Given the description of an element on the screen output the (x, y) to click on. 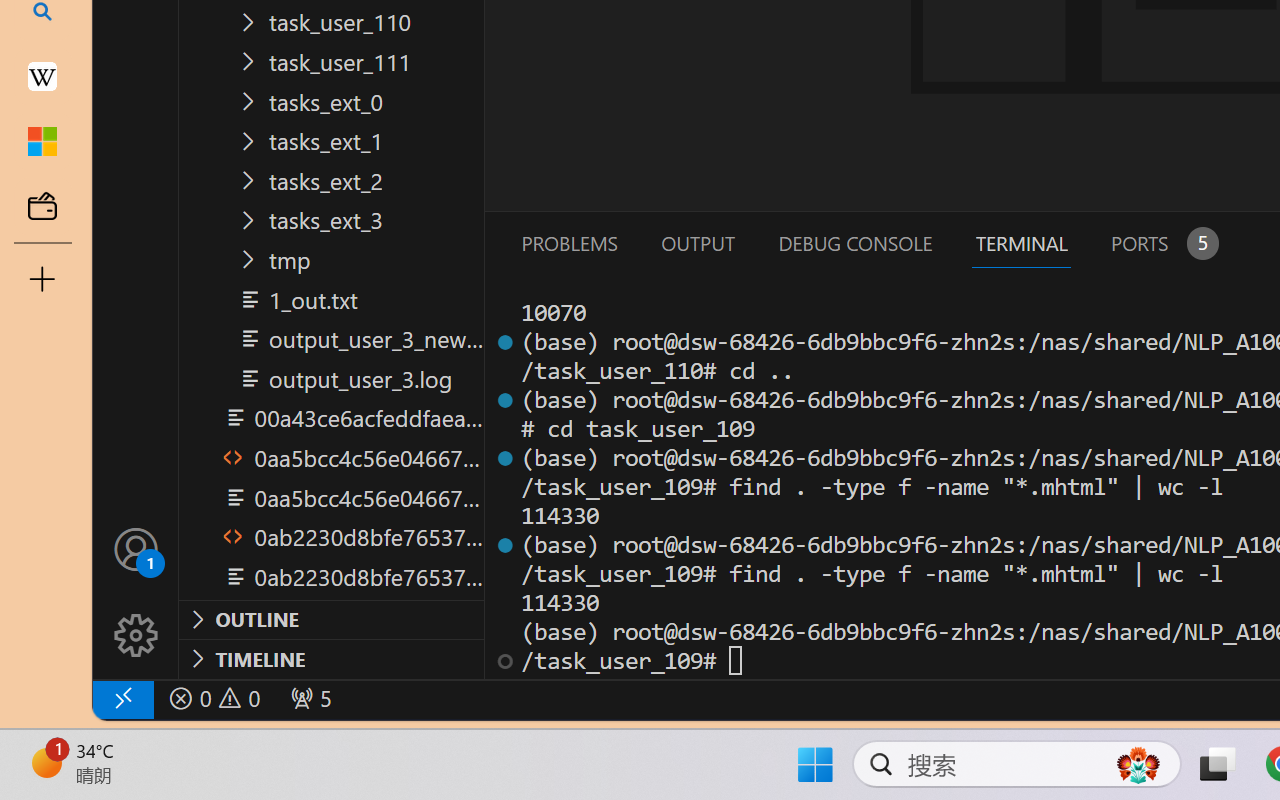
Terminal (Ctrl+`) (1021, 243)
Output (Ctrl+Shift+U) (696, 243)
Timeline Section (331, 658)
Problems (Ctrl+Shift+M) (567, 243)
Manage (135, 635)
Ports - 5 forwarded ports (1162, 243)
Forwarded Ports: 36301, 47065, 38781, 45817, 50331 (308, 698)
No Problems (212, 698)
Outline Section (331, 619)
Earth - Wikipedia (42, 75)
Manage (135, 591)
